Given the description of an element on the screen output the (x, y) to click on. 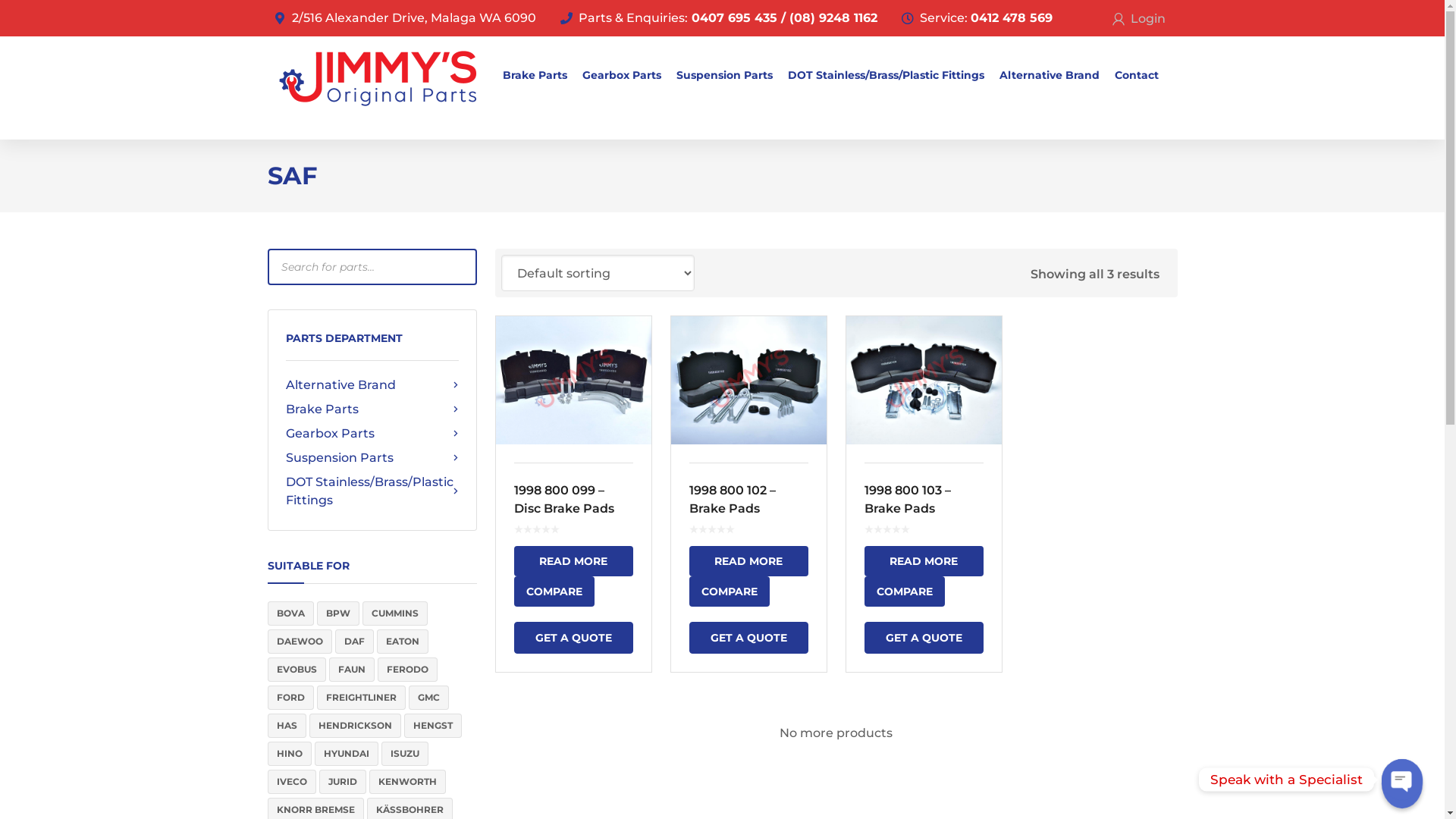
GET A QUOTE Element type: text (573, 637)
DAF Element type: text (354, 641)
HINO Element type: text (288, 753)
GMC Element type: text (427, 697)
COMPARE Element type: text (728, 591)
IVECO Element type: text (290, 781)
FREIGHTLINER Element type: text (360, 697)
Brake Parts Element type: text (534, 74)
HAS Element type: text (285, 725)
CUMMINS Element type: text (394, 613)
BPW Element type: text (337, 613)
EVOBUS Element type: text (295, 669)
READ MORE Element type: text (923, 561)
Alternative Brand Element type: text (1049, 74)
ISUZU Element type: text (403, 753)
READ MORE Element type: text (573, 561)
FERODO Element type: text (407, 669)
KENWORTH Element type: text (406, 781)
HENDRICKSON Element type: text (355, 725)
JURID Element type: text (341, 781)
Brake Parts Element type: text (371, 409)
Suspension Parts Element type: text (724, 74)
READ MORE Element type: text (747, 561)
COMPARE Element type: text (904, 591)
Contact Element type: text (1136, 74)
BOVA Element type: text (289, 613)
Gearbox Parts Element type: text (621, 74)
EATON Element type: text (401, 641)
Suspension Parts Element type: text (371, 457)
Alternative Brand Element type: text (371, 385)
FORD Element type: text (289, 697)
DAEWOO Element type: text (298, 641)
COMPARE Element type: text (554, 591)
GET A QUOTE Element type: text (747, 637)
HENGST Element type: text (432, 725)
DOT Stainless/Brass/Plastic Fittings Element type: text (885, 74)
GET A QUOTE Element type: text (923, 637)
FAUN Element type: text (351, 669)
DOT Stainless/Brass/Plastic Fittings Element type: text (371, 491)
HYUNDAI Element type: text (345, 753)
Gearbox Parts Element type: text (371, 433)
